Given the description of an element on the screen output the (x, y) to click on. 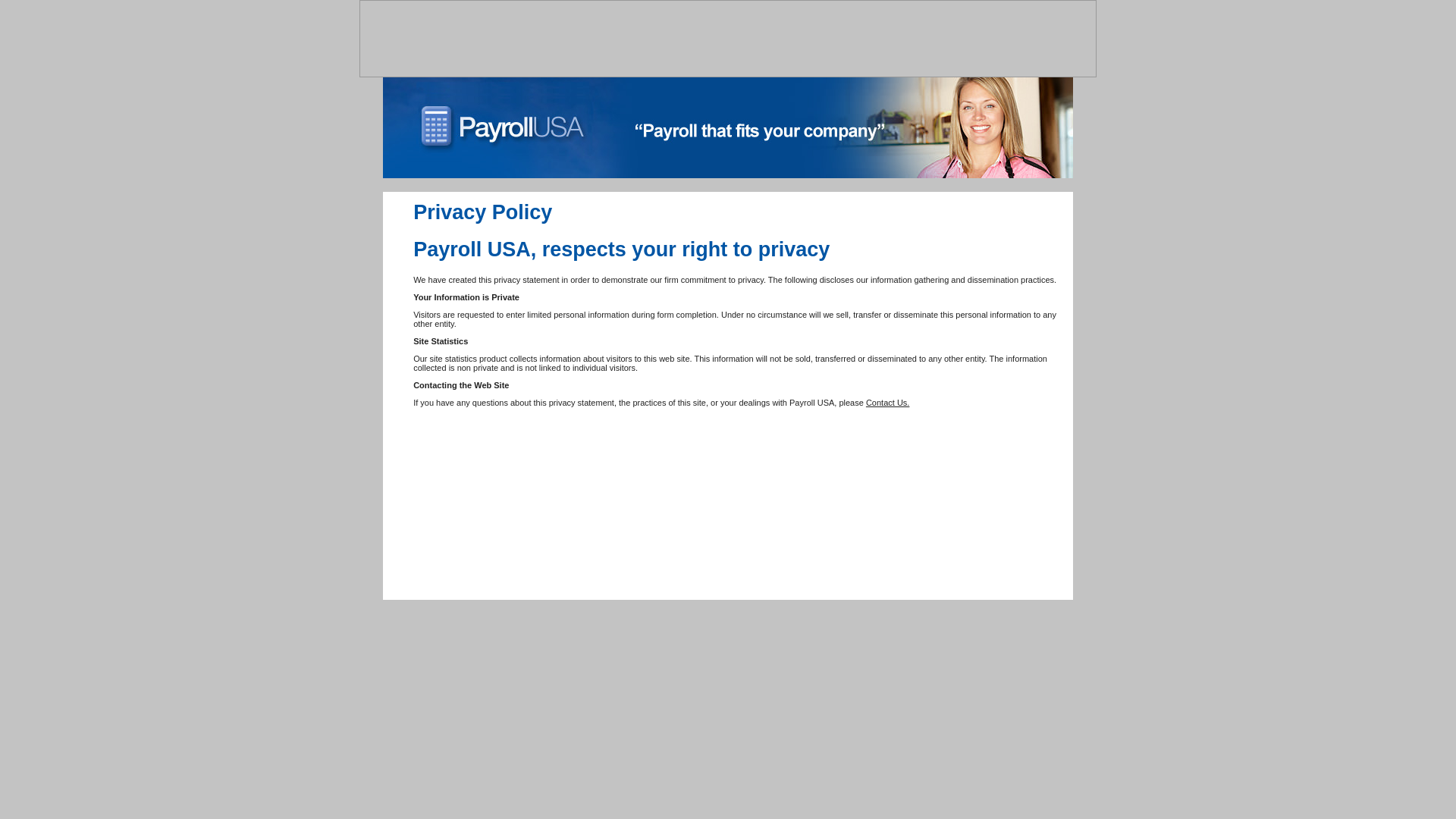
Contact Us. (887, 402)
